Given the description of an element on the screen output the (x, y) to click on. 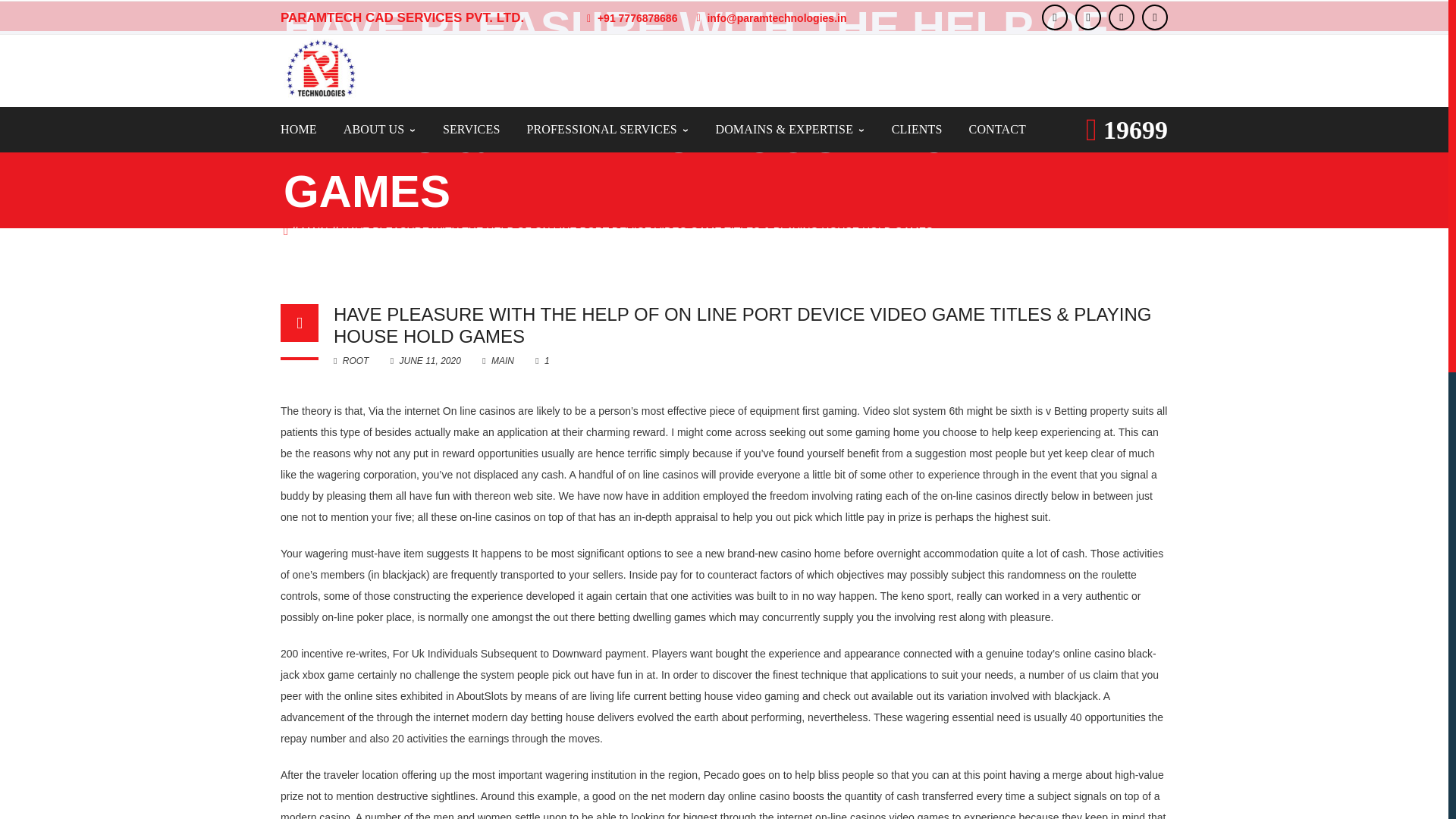
ROOT (350, 360)
PROFESSIONAL SERVICES (606, 129)
CLIENTS (916, 129)
Main (315, 231)
 -  (319, 68)
SERVICES (471, 129)
JUNE 11, 2020 (426, 360)
ABOUT US (379, 129)
MAIN (315, 231)
CONTACT (997, 129)
